Given the description of an element on the screen output the (x, y) to click on. 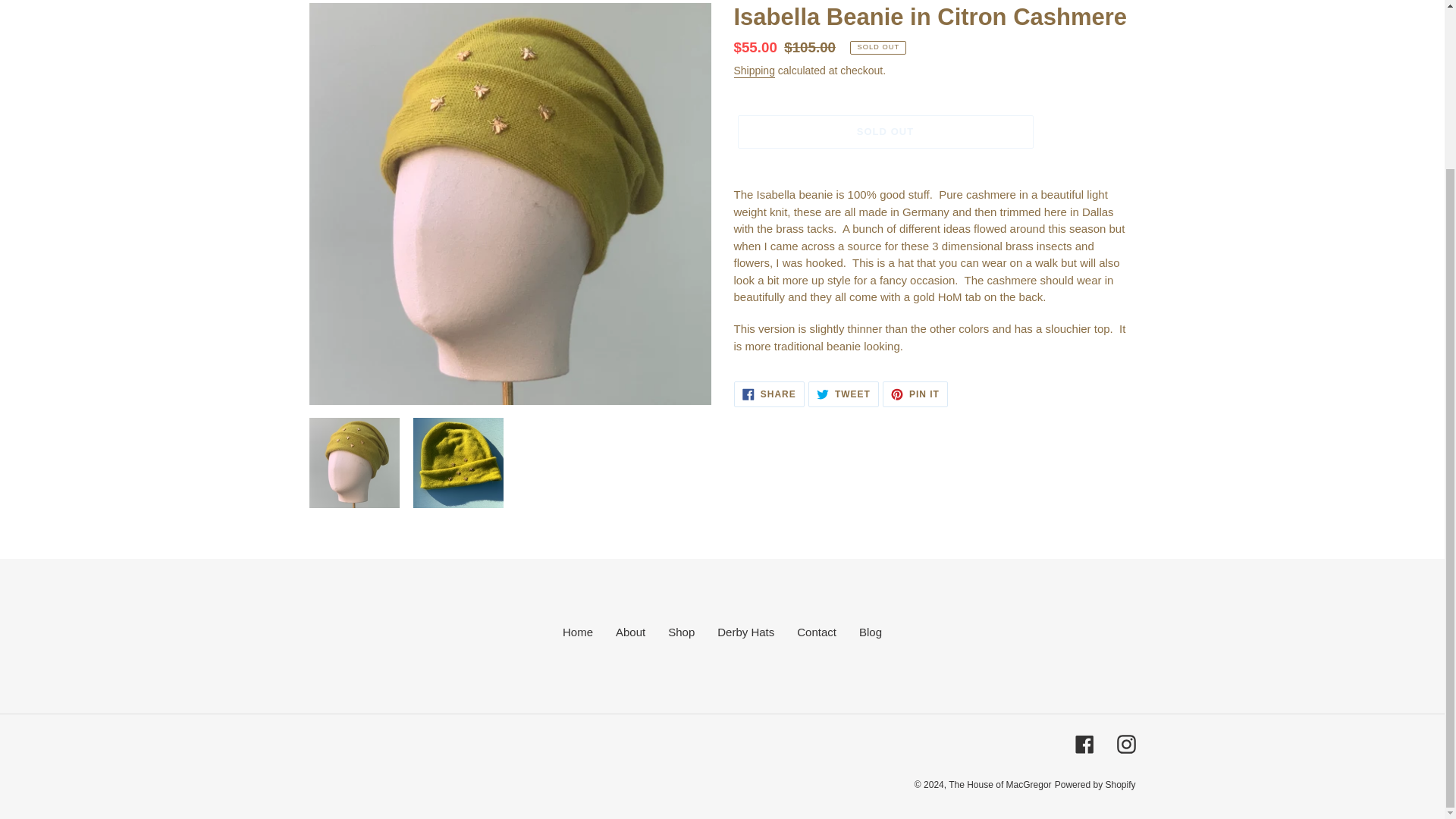
Shipping (753, 70)
SOLD OUT (884, 131)
